Given the description of an element on the screen output the (x, y) to click on. 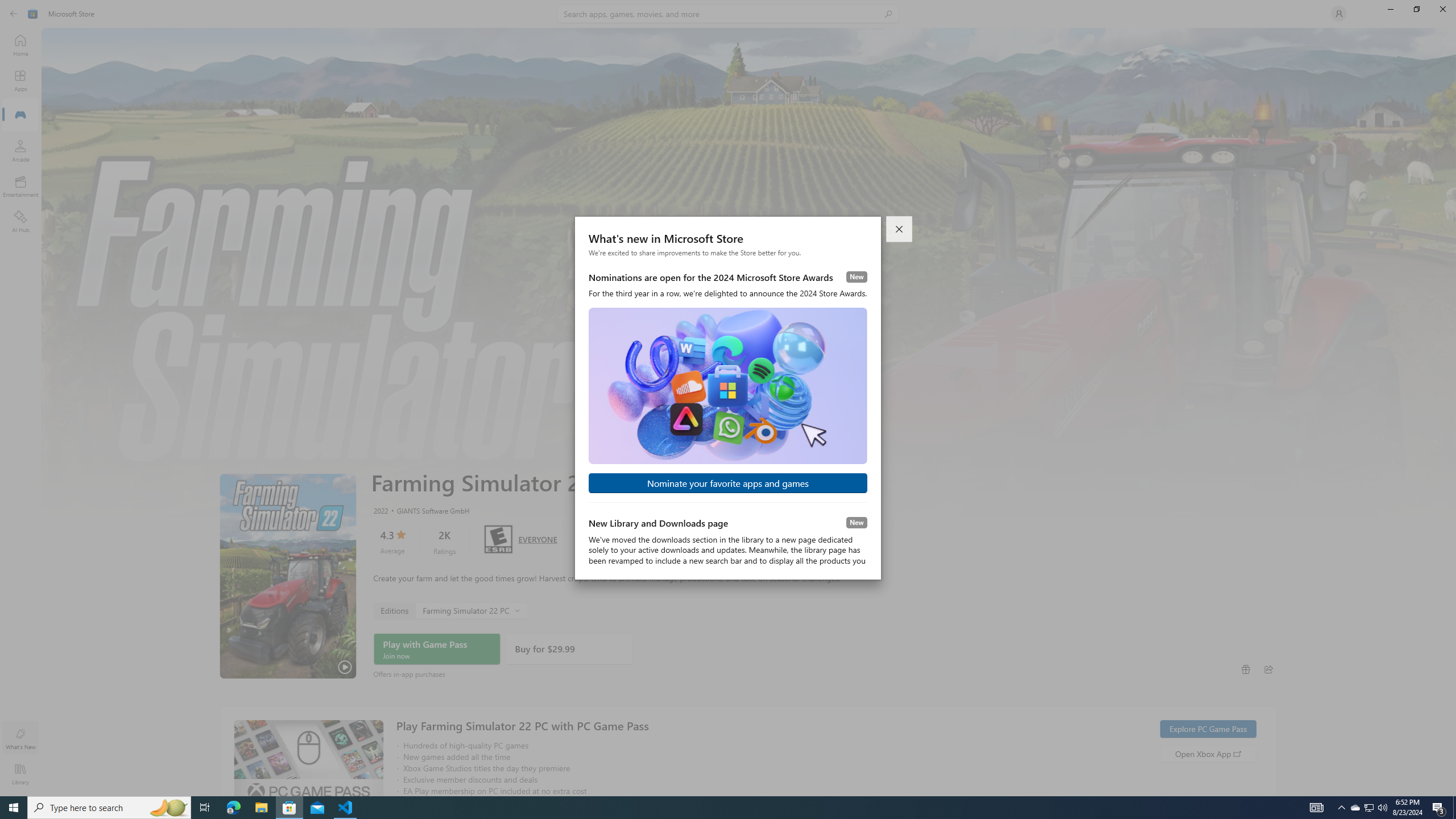
Close dialog (899, 229)
Open Xbox App (1207, 753)
Buy as gift (1245, 669)
Buy (568, 649)
Farming Simulator 22 PC, Edition selector (449, 610)
GIANTS Software GmbH (427, 510)
Share (1267, 669)
AutomationID: NavigationControl (728, 398)
